Given the description of an element on the screen output the (x, y) to click on. 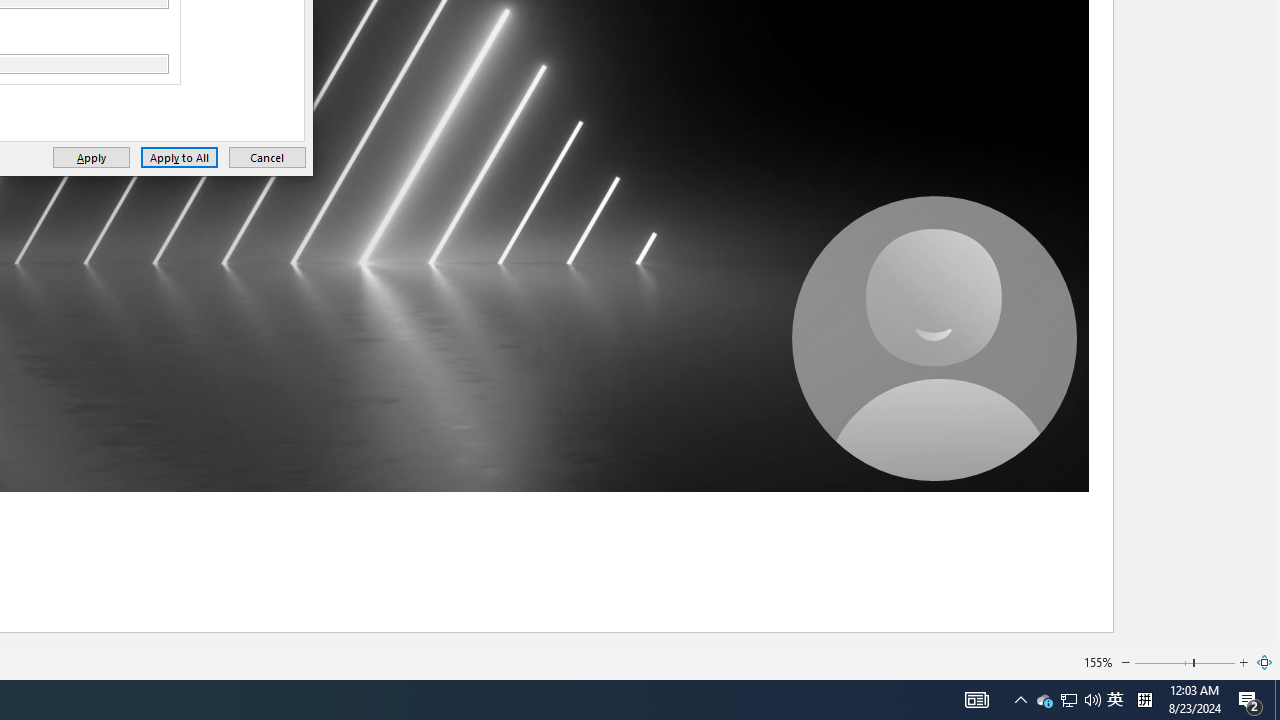
Page left (1163, 662)
